Given the description of an element on the screen output the (x, y) to click on. 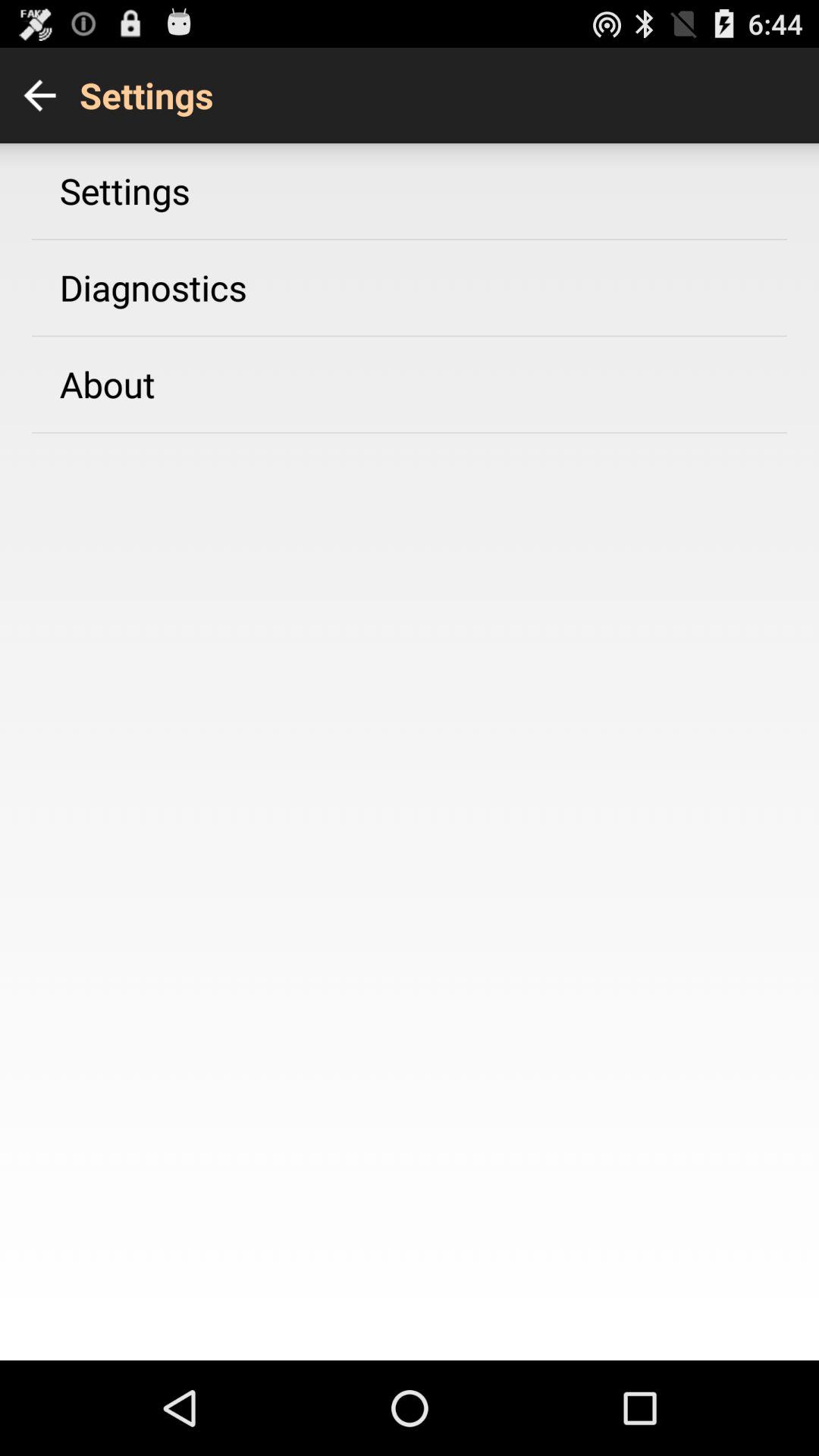
open the about (107, 384)
